Given the description of an element on the screen output the (x, y) to click on. 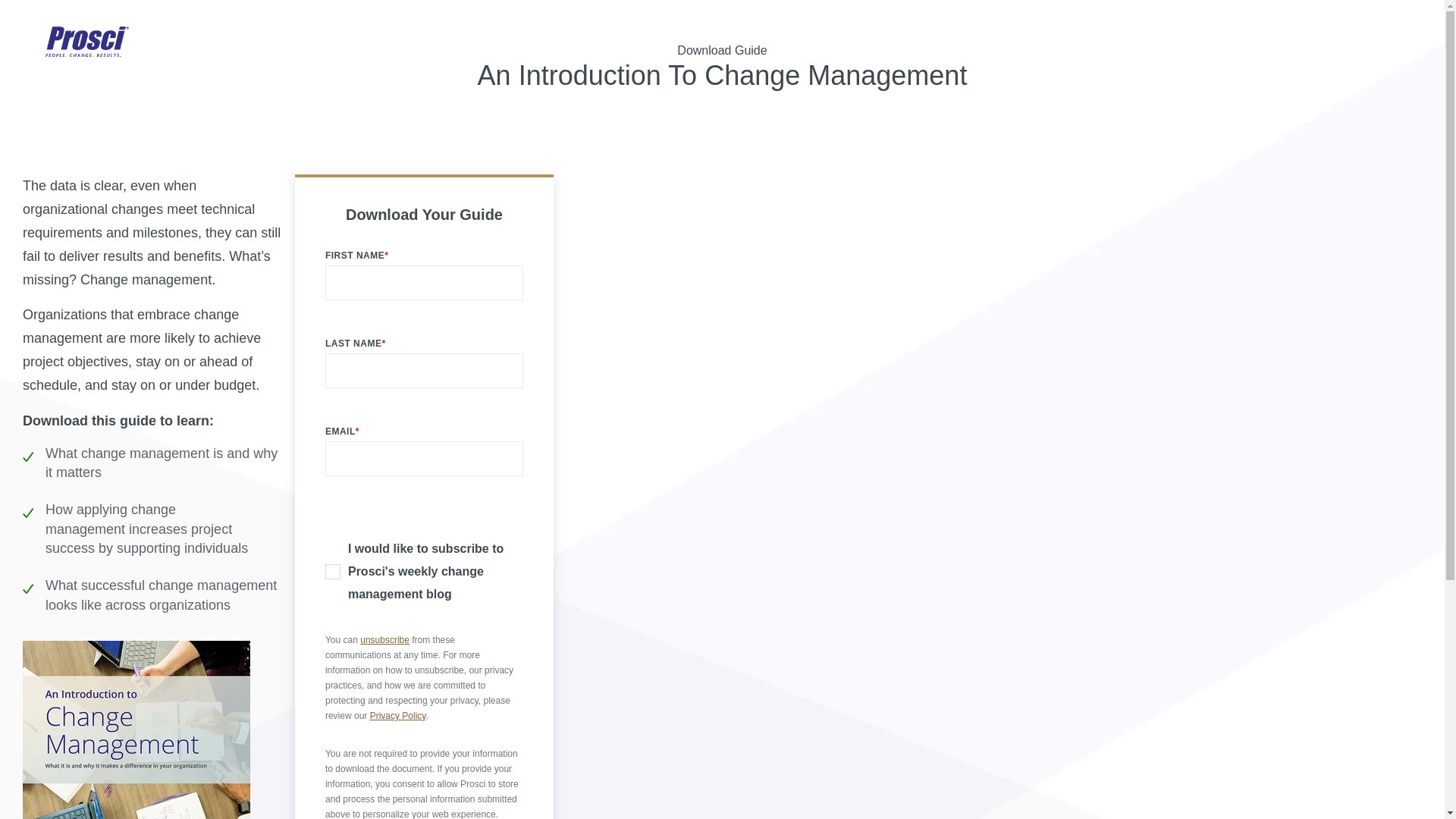
Privacy Policy (397, 715)
The-Introductory-Guide-to-Change-Management-2021-cover (136, 729)
unsubscribe (384, 639)
Prosci - People. Change. Results. (87, 46)
